Given the description of an element on the screen output the (x, y) to click on. 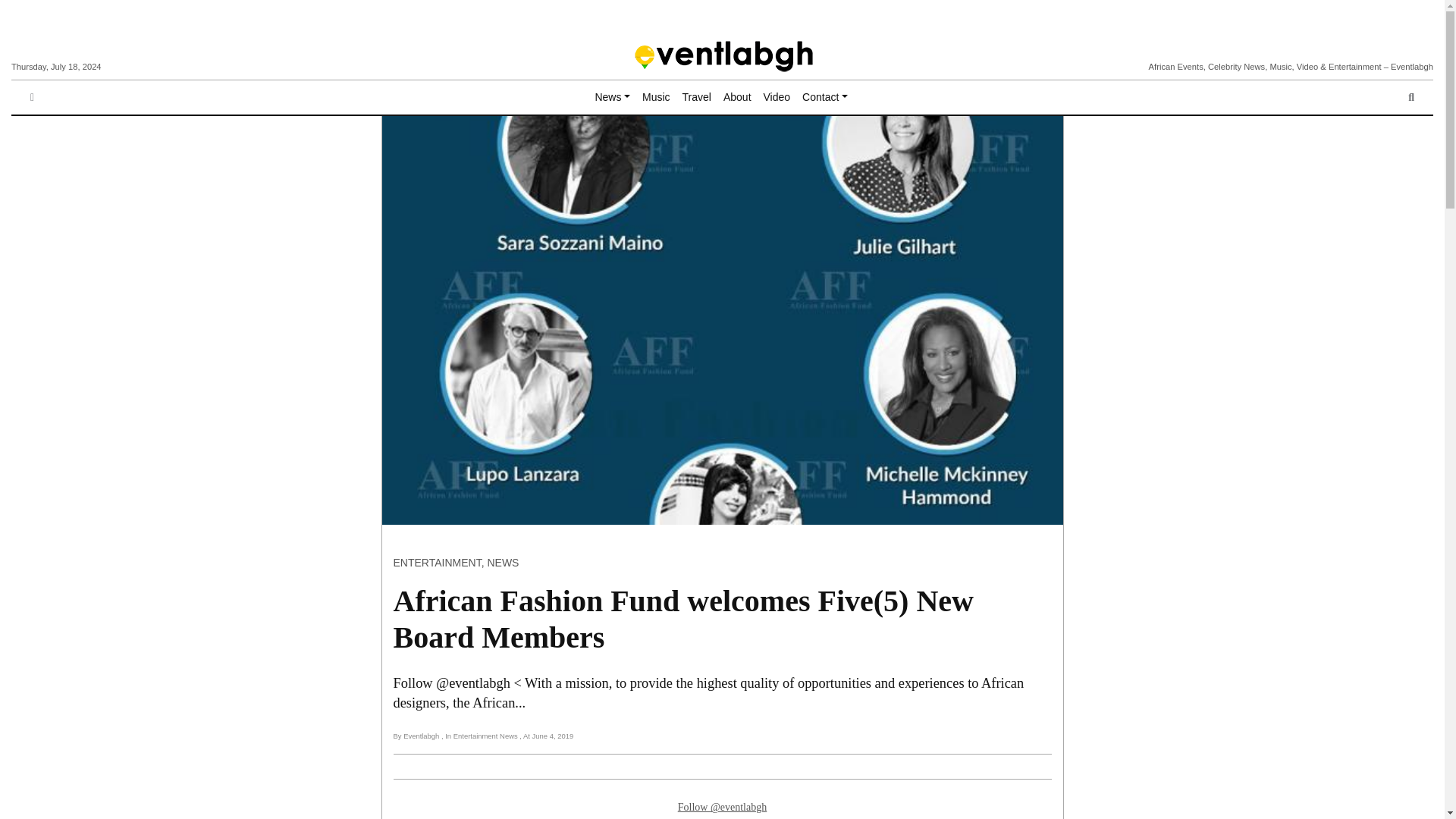
Contact (824, 97)
Video (776, 97)
ENTERTAINMENT (436, 562)
Music (656, 97)
About (737, 97)
News (612, 97)
Travel (697, 97)
NEWS (502, 562)
Contact (824, 97)
Music (656, 97)
News (612, 97)
About (737, 97)
Video (776, 97)
Travel (697, 97)
